Given the description of an element on the screen output the (x, y) to click on. 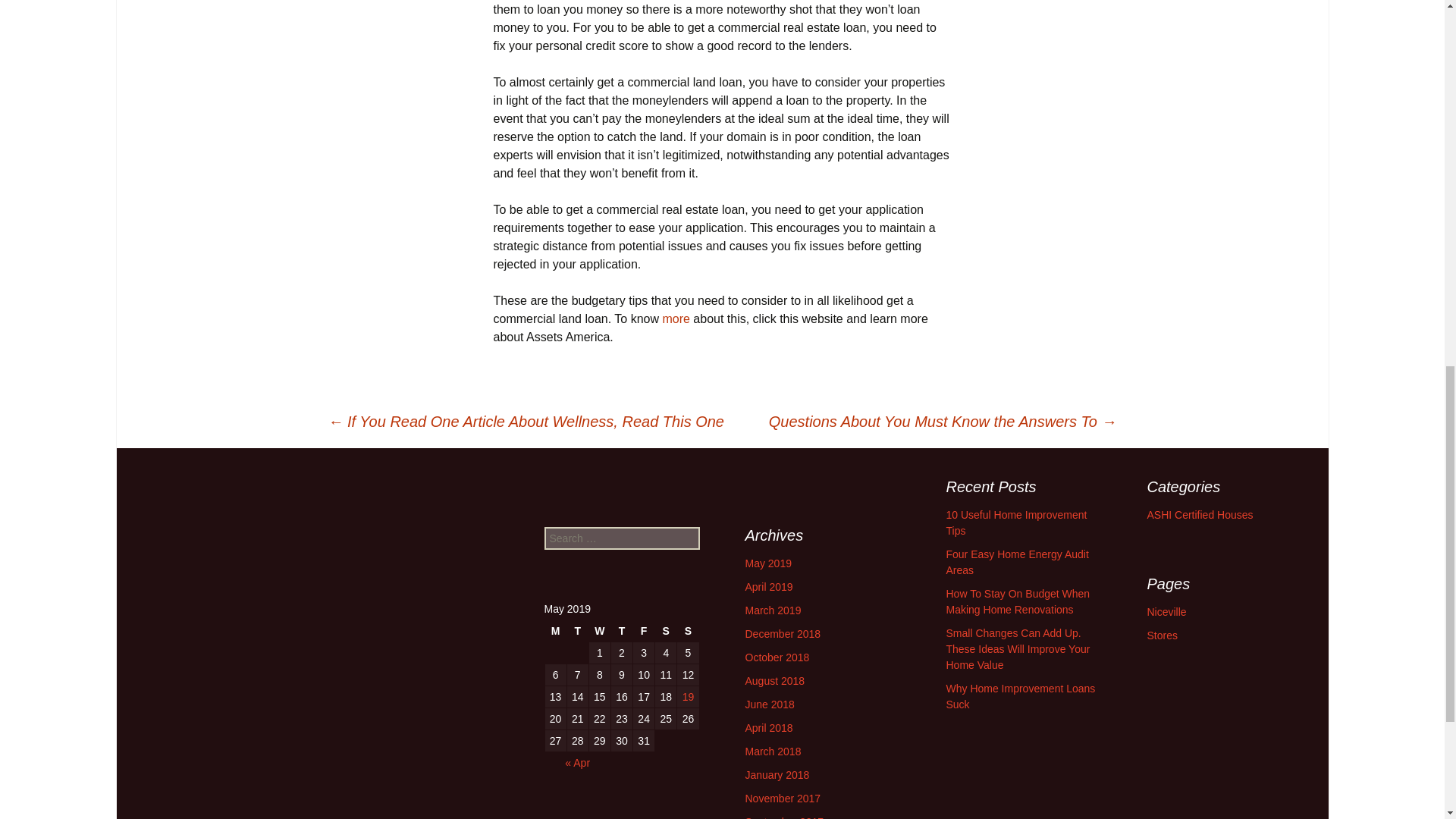
ASHI Certified Houses (1199, 514)
April 2019 (768, 586)
December 2018 (782, 633)
Stores (1161, 635)
January 2018 (776, 775)
Niceville (1166, 612)
Thursday (621, 630)
April 2018 (768, 727)
August 2018 (774, 680)
Sunday (687, 630)
19 (687, 696)
Monday (555, 630)
Why Home Improvement Loans Suck (1021, 696)
more (677, 318)
